Given the description of an element on the screen output the (x, y) to click on. 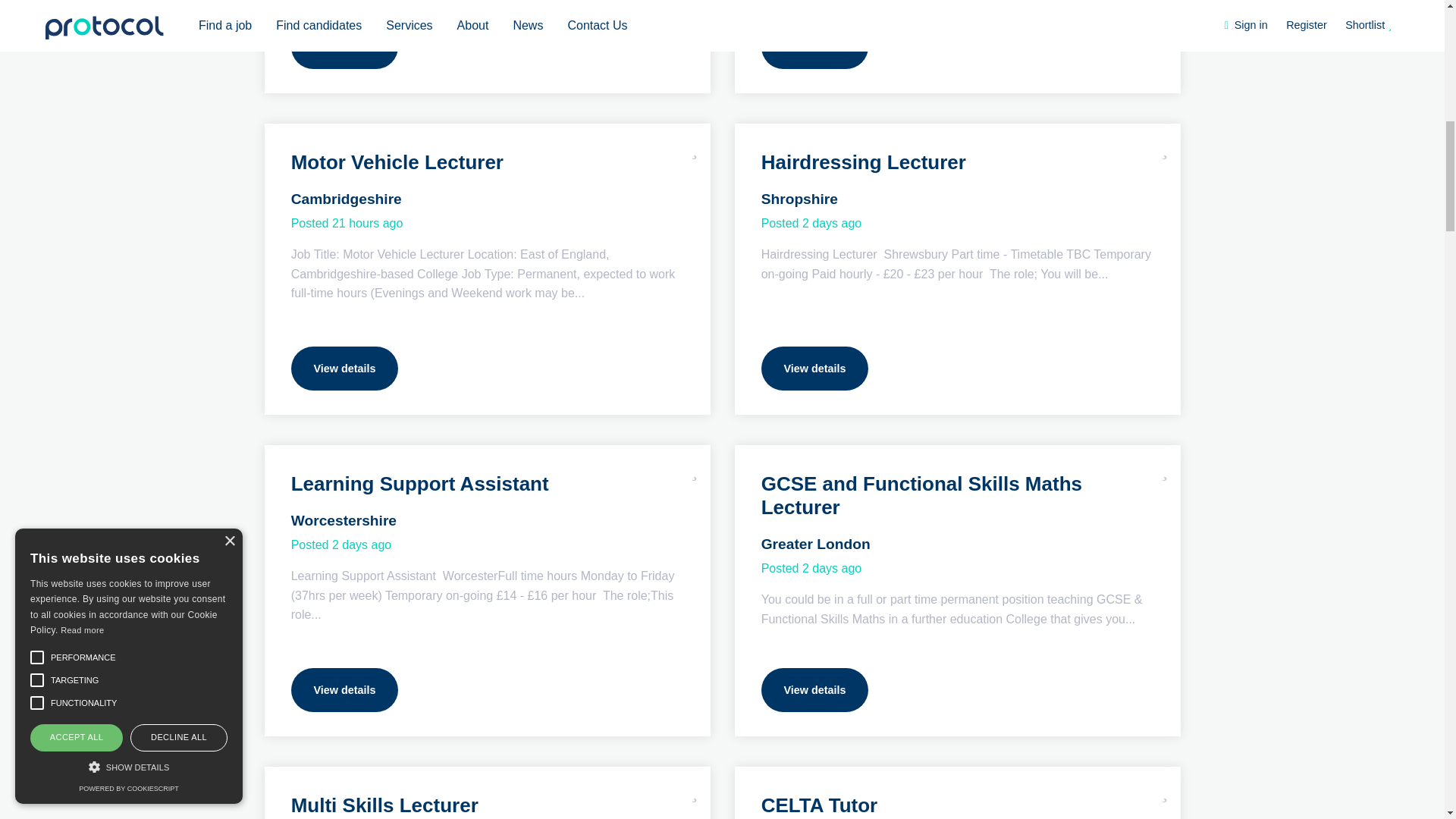
Add this job to shortlist (694, 147)
Add this job to shortlist (694, 789)
Add this job to shortlist (1164, 468)
Add this job to shortlist (1164, 147)
Add this job to shortlist (694, 468)
Add this job to shortlist (1164, 789)
